Given the description of an element on the screen output the (x, y) to click on. 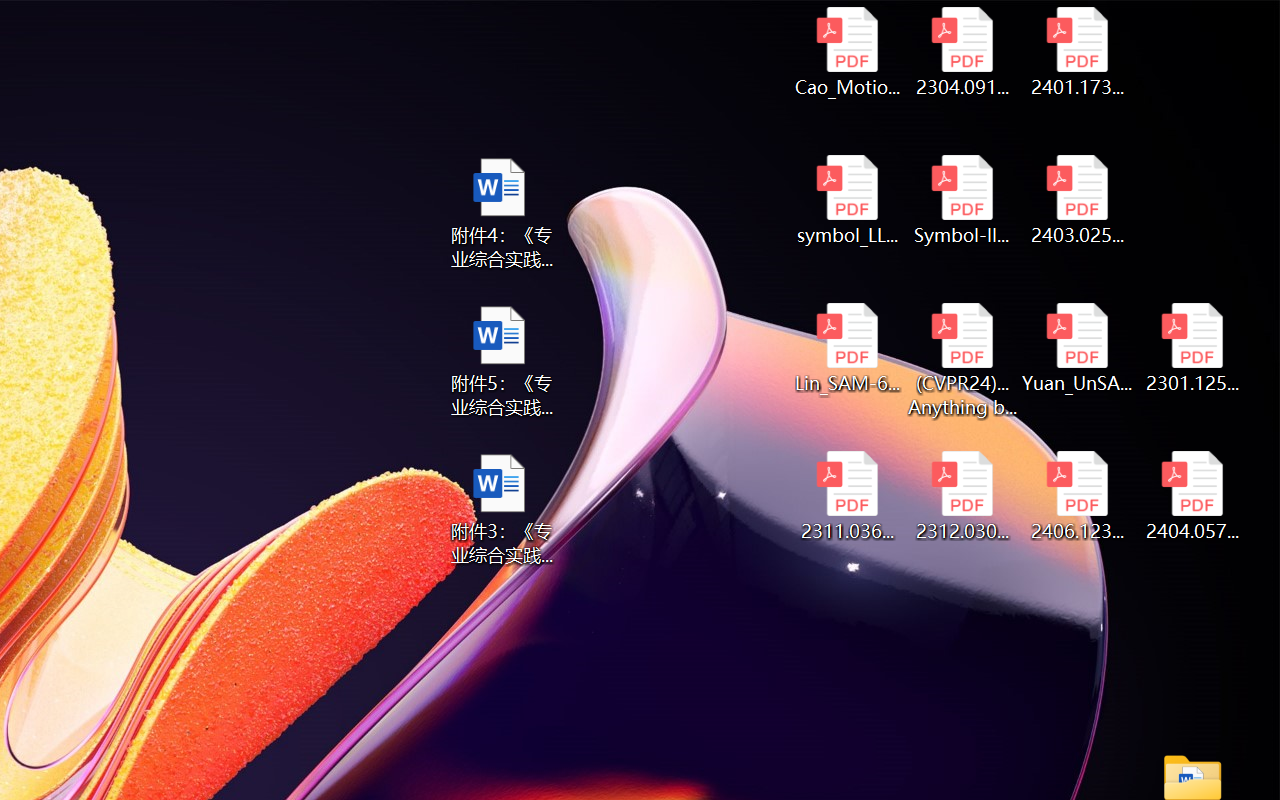
(CVPR24)Matching Anything by Segmenting Anything.pdf (962, 360)
2312.03032v2.pdf (962, 496)
Symbol-llm-v2.pdf (962, 200)
2401.17399v1.pdf (1077, 52)
2301.12597v3.pdf (1192, 348)
2311.03658v2.pdf (846, 496)
2304.09121v3.pdf (962, 52)
2403.02502v1.pdf (1077, 200)
2404.05719v1.pdf (1192, 496)
2406.12373v2.pdf (1077, 496)
